Given the description of an element on the screen output the (x, y) to click on. 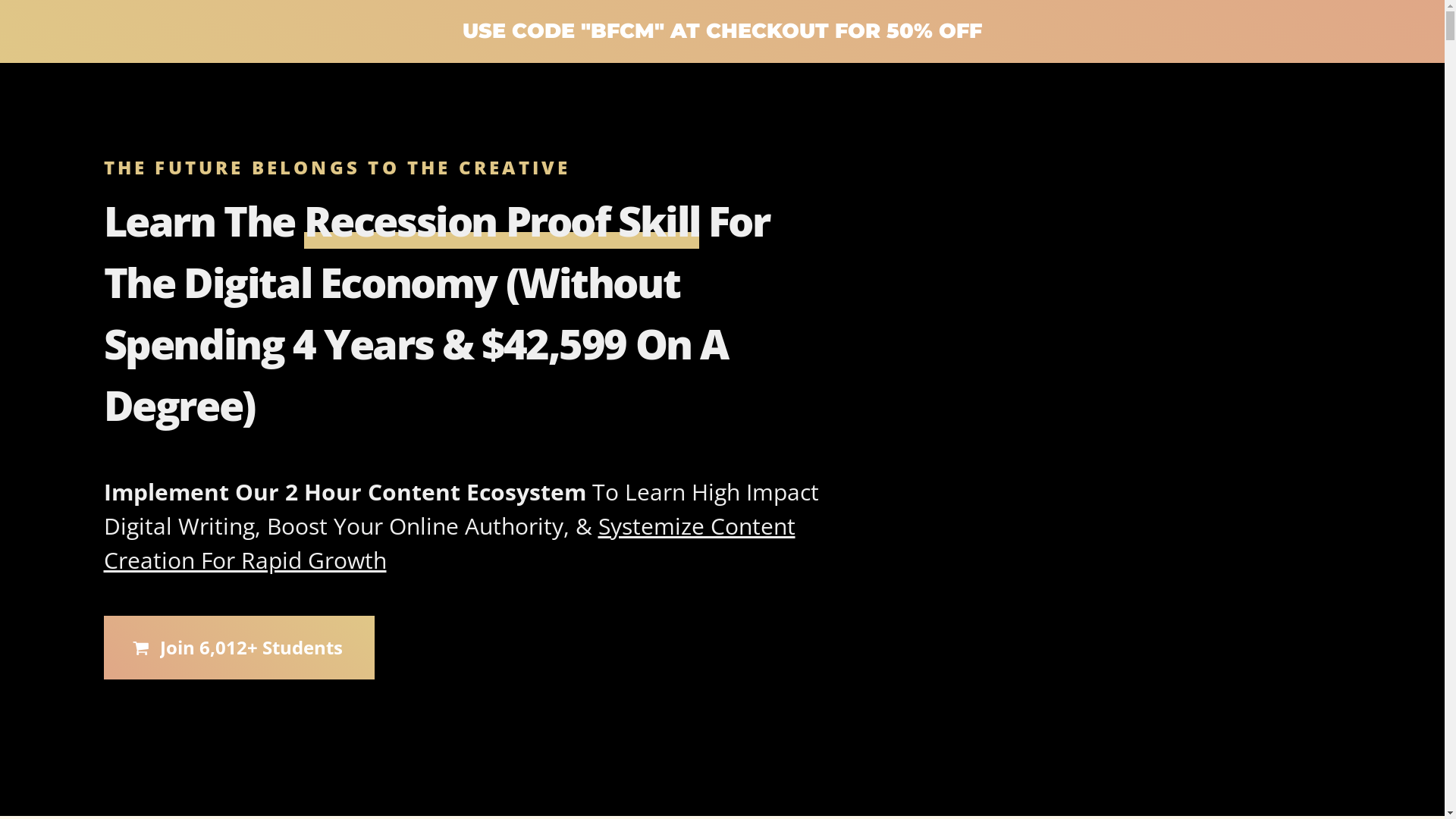
Join 6,012+ Students Element type: text (238, 647)
